Given the description of an element on the screen output the (x, y) to click on. 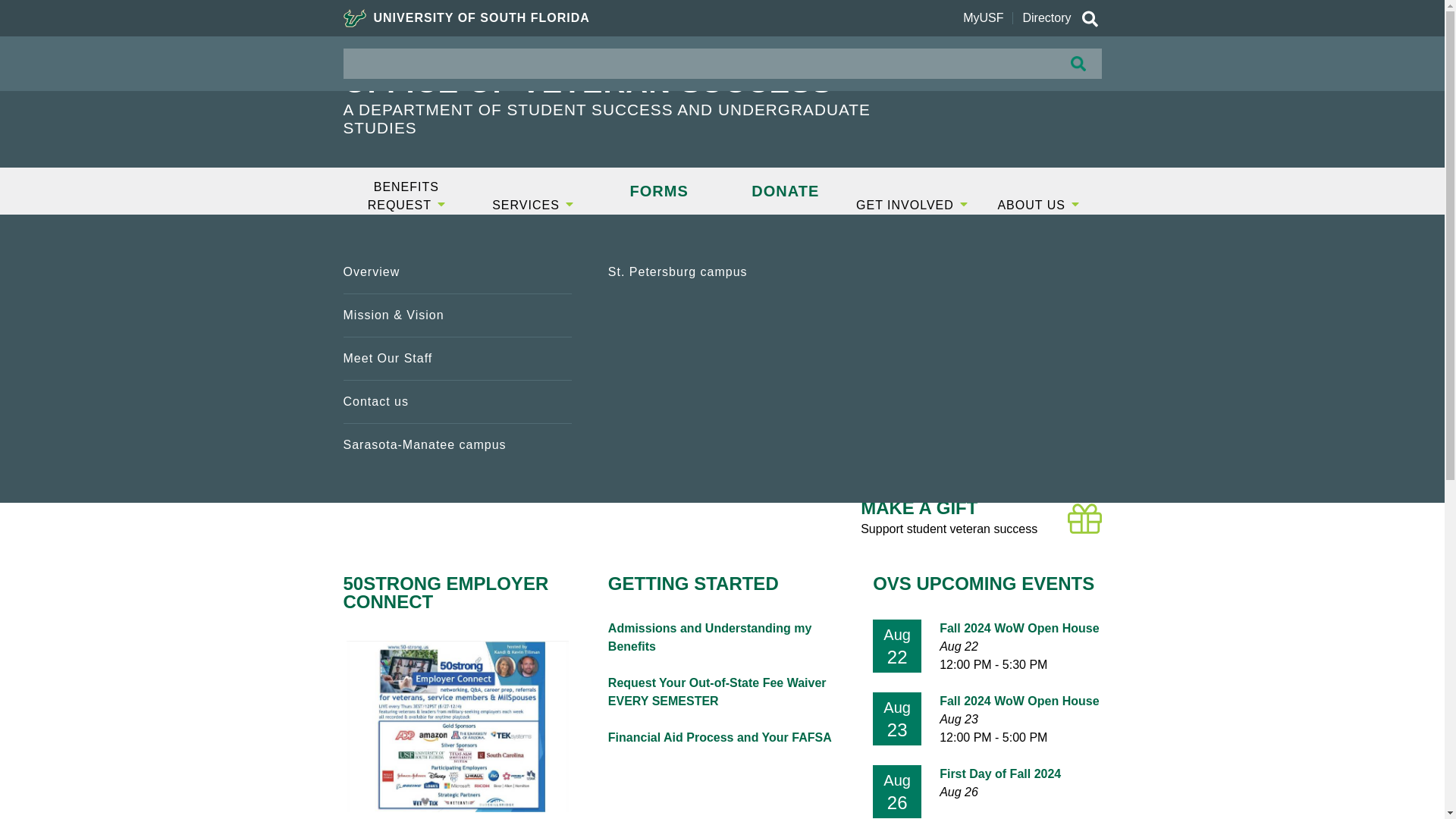
FORMS (658, 190)
90 Day Tuition Deferment (456, 401)
MyUSF (982, 18)
Directory (1046, 18)
Out of State Fee Waiver (456, 358)
Benefits Request Overview (456, 271)
Yellow Ribbon Program (721, 271)
GIVE NOW (1039, 69)
VA Education Benefits (456, 445)
UNIVERSITY OF SOUTH FLORIDA (465, 18)
